Given the description of an element on the screen output the (x, y) to click on. 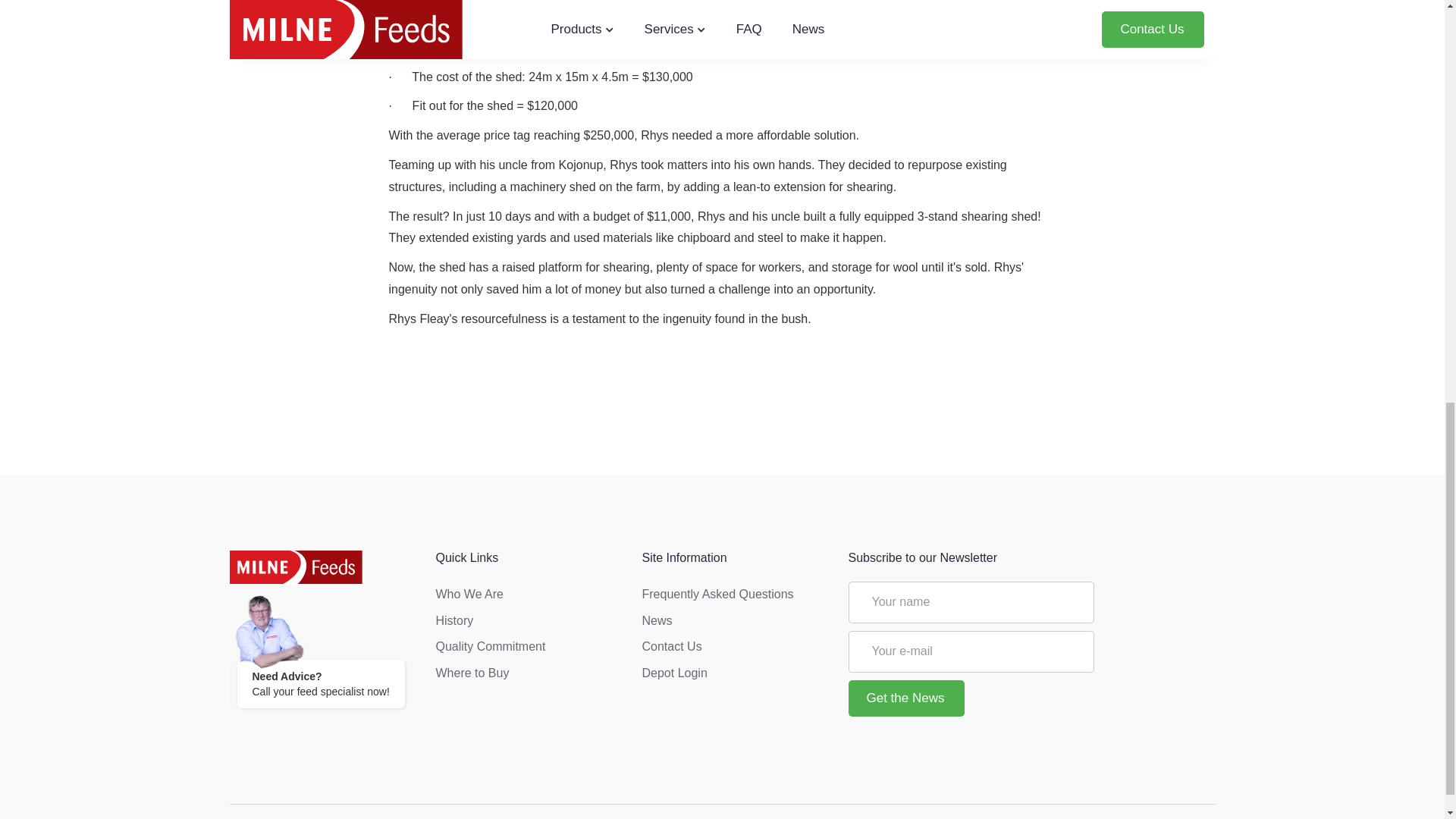
Who We Are (526, 594)
History (526, 621)
Frequently Asked Questions (733, 594)
Quality Commitment (526, 646)
Where to Buy (526, 673)
Get the News (905, 698)
